Given the description of an element on the screen output the (x, y) to click on. 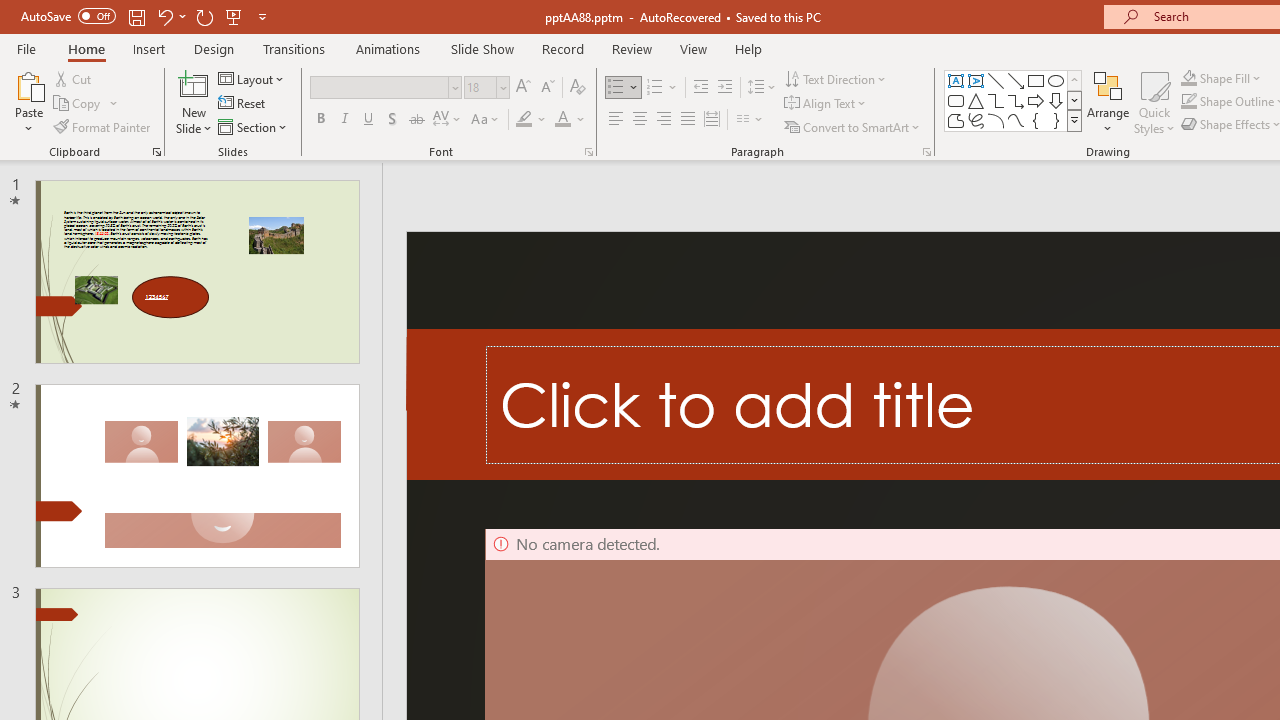
Font... (588, 151)
Reset (243, 103)
Isosceles Triangle (975, 100)
Paragraph... (926, 151)
Connector: Elbow (995, 100)
Transitions (294, 48)
Layout (252, 78)
Shapes (1074, 120)
Distributed (712, 119)
Line Arrow (1016, 80)
New Slide (193, 102)
Cut (73, 78)
Numbering (661, 87)
Section (254, 126)
